Given the description of an element on the screen output the (x, y) to click on. 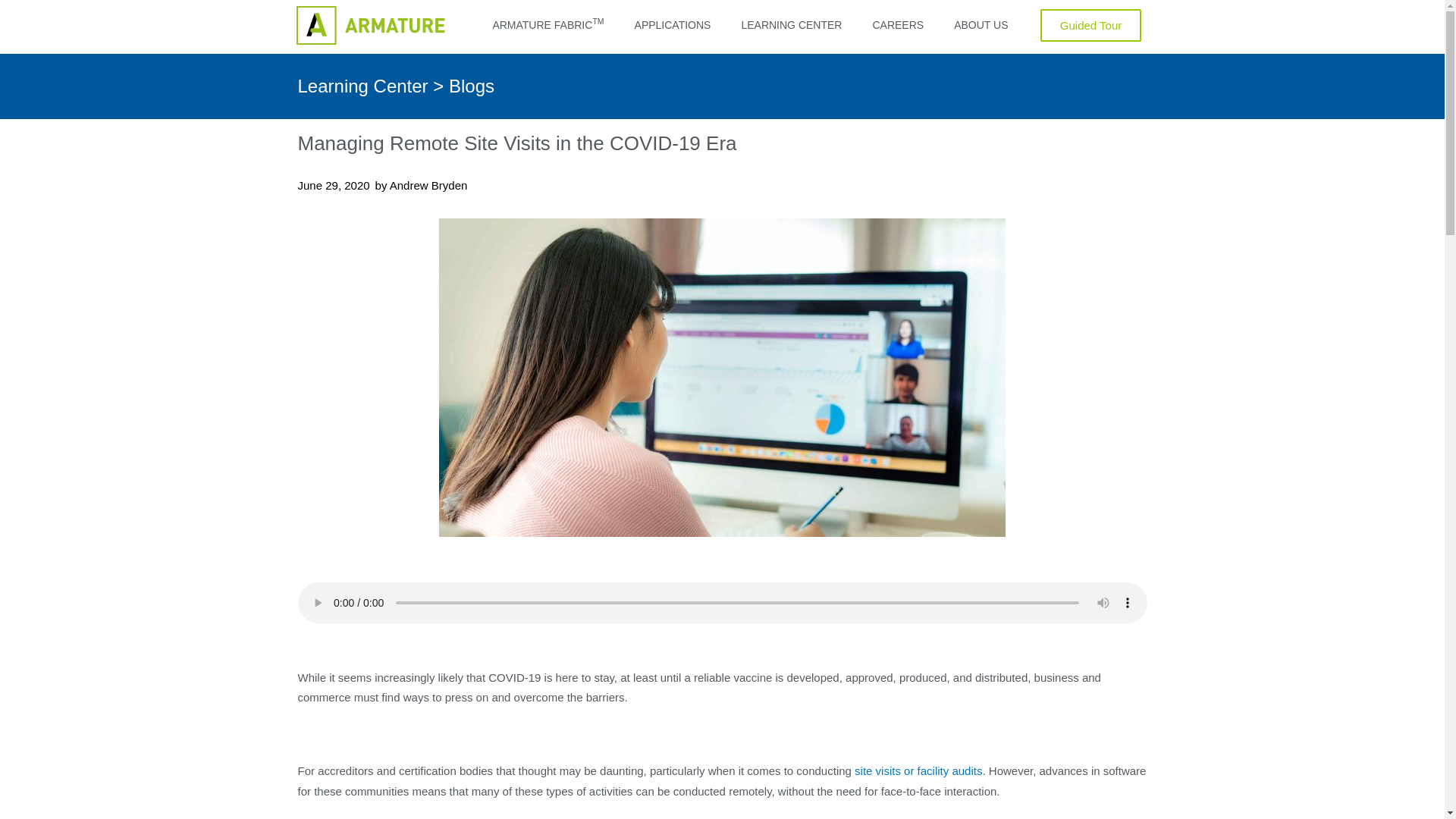
APPLICATIONS (673, 24)
Guided Tour (547, 24)
site visits or facility audits (1091, 25)
by Andrew Bryden (917, 770)
CAREERS (421, 185)
LEARNING CENTER (898, 24)
ABOUT US (791, 24)
